Given the description of an element on the screen output the (x, y) to click on. 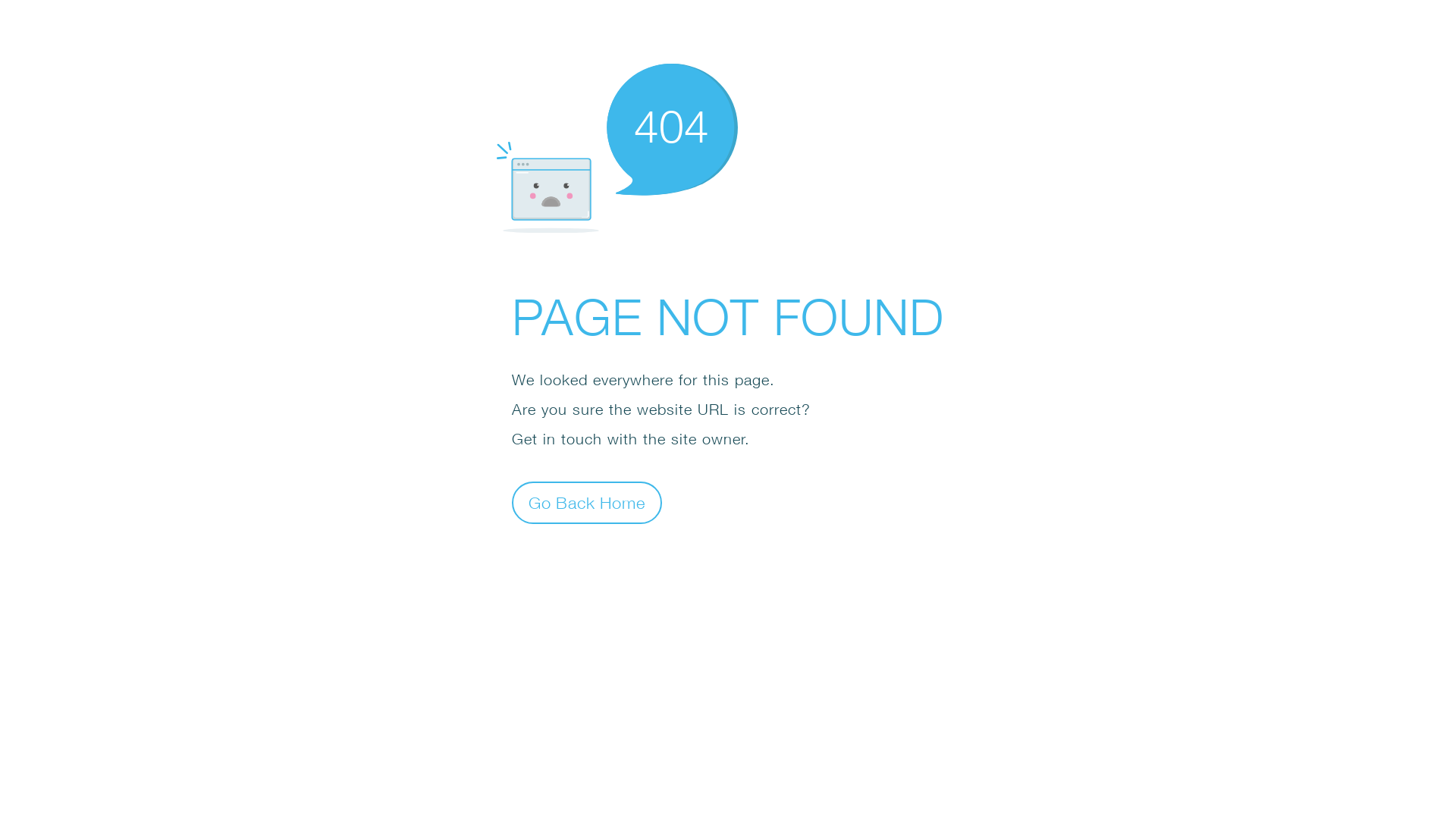
Go Back Home Element type: text (586, 502)
